Given the description of an element on the screen output the (x, y) to click on. 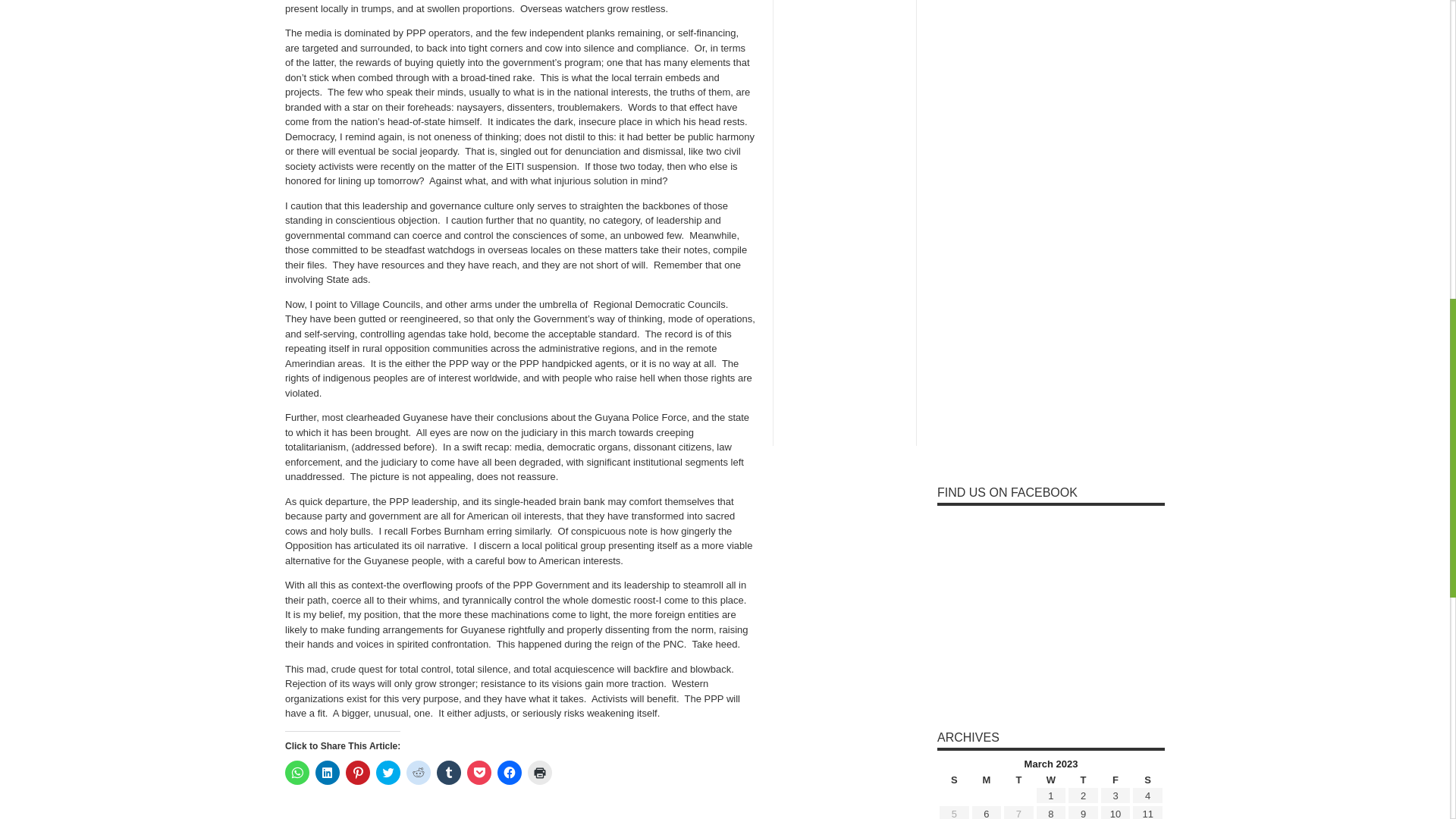
Click to share on LinkedIn (327, 772)
Click to share on Tumblr (448, 772)
Click to share on WhatsApp (296, 772)
Click to share on Reddit (418, 772)
Click to share on Twitter (387, 772)
Click to share on Pinterest (357, 772)
